Given the description of an element on the screen output the (x, y) to click on. 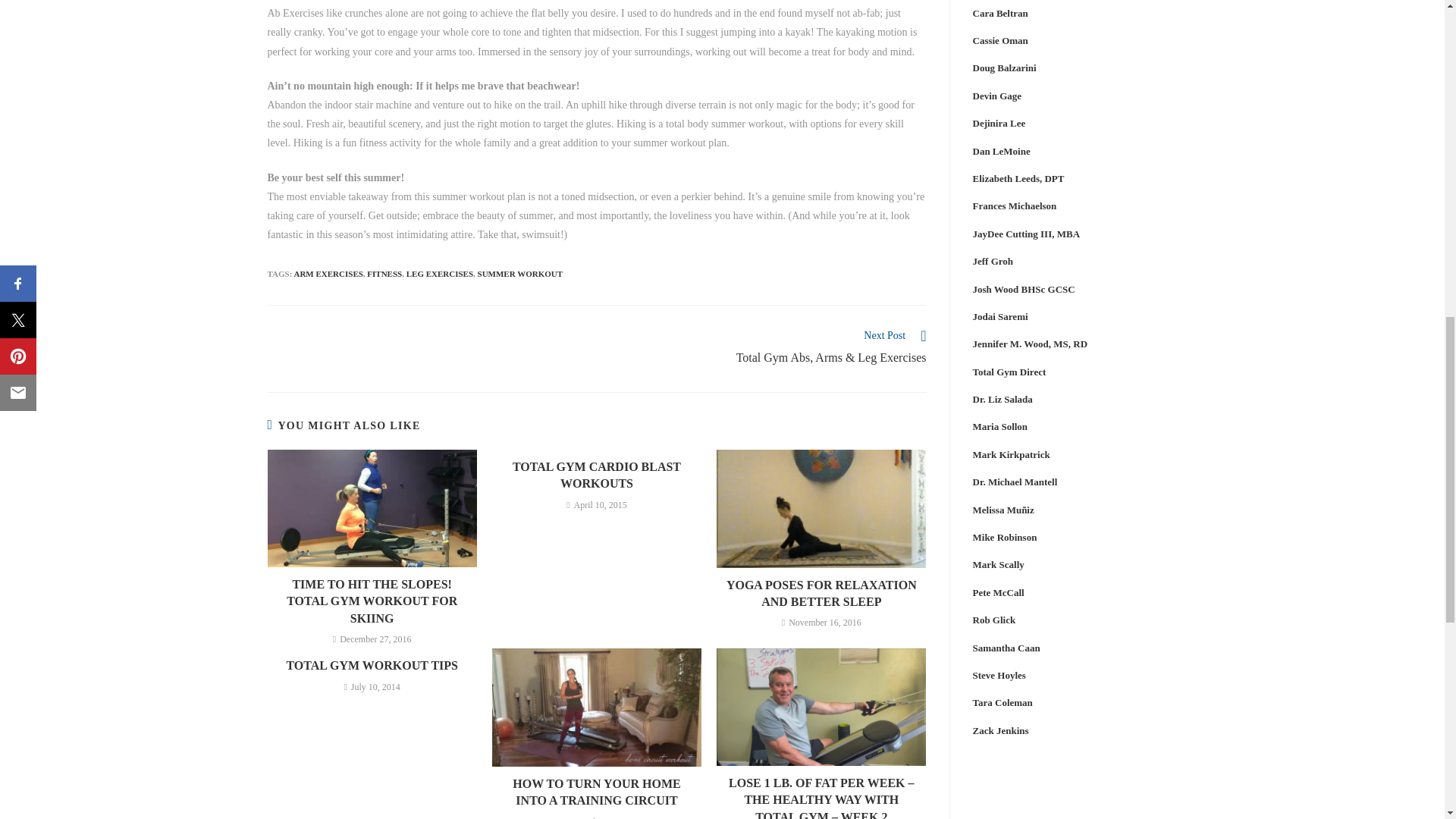
LEG EXERCISES (439, 273)
ARM EXERCISES (328, 273)
How to Turn Your Home Into a Training Circuit (596, 792)
Total Gym Workout Tips (371, 665)
Yoga Poses for Relaxation and Better Sleep (821, 593)
TOTAL GYM CARDIO BLAST WORKOUTS (596, 475)
TOTAL GYM WORKOUT TIPS (371, 665)
SUMMER WORKOUT (520, 273)
Time to Hit the Slopes! Total Gym Workout for Skiing (371, 601)
FITNESS (383, 273)
